Given the description of an element on the screen output the (x, y) to click on. 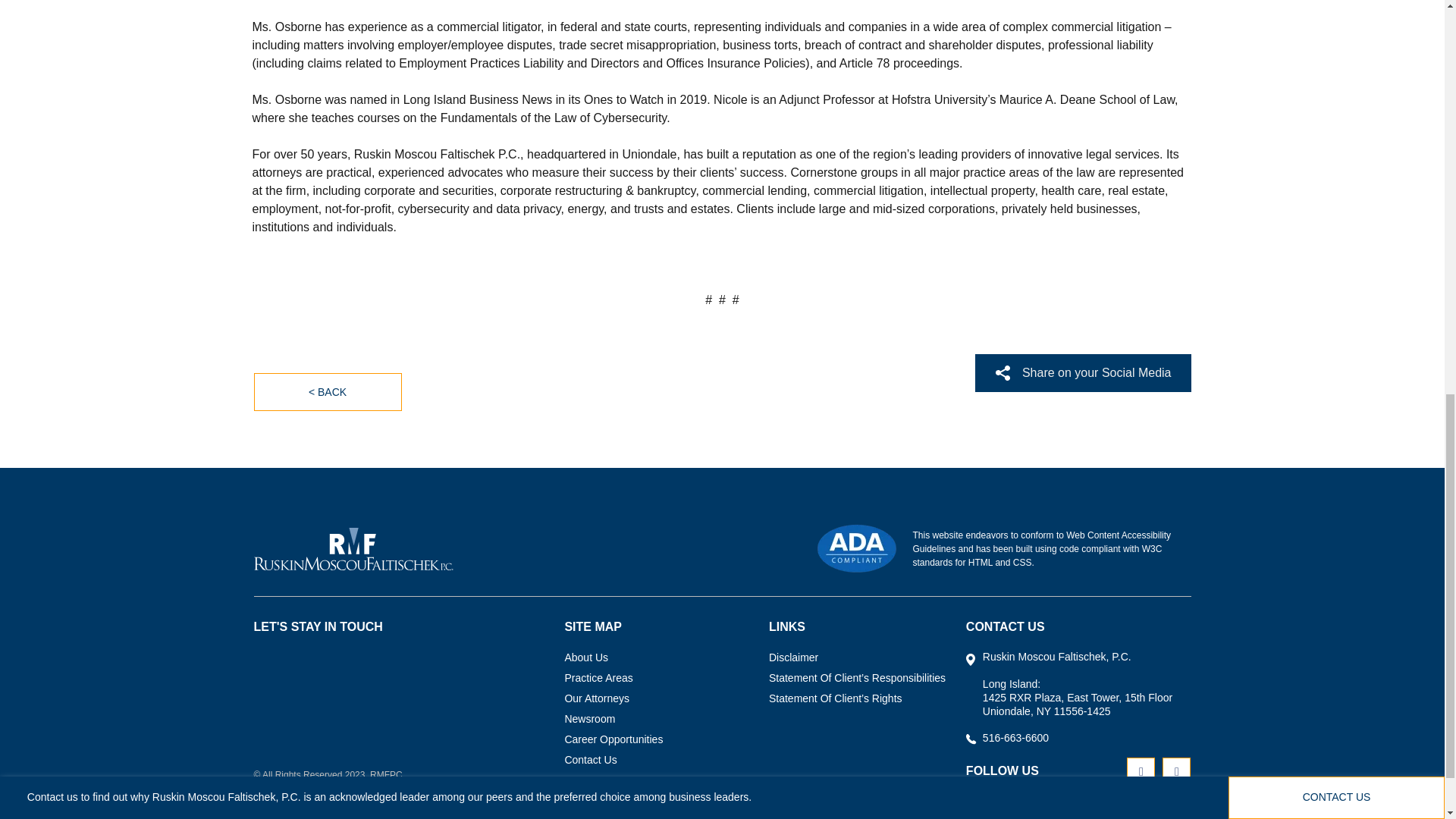
Contact Us (589, 760)
Practice Areas (597, 678)
Career Opportunities (613, 740)
Our Attorneys (596, 699)
About Us (586, 658)
516-663-6600 (1015, 737)
Disclaimer (793, 658)
Newsroom (589, 719)
